Given the description of an element on the screen output the (x, y) to click on. 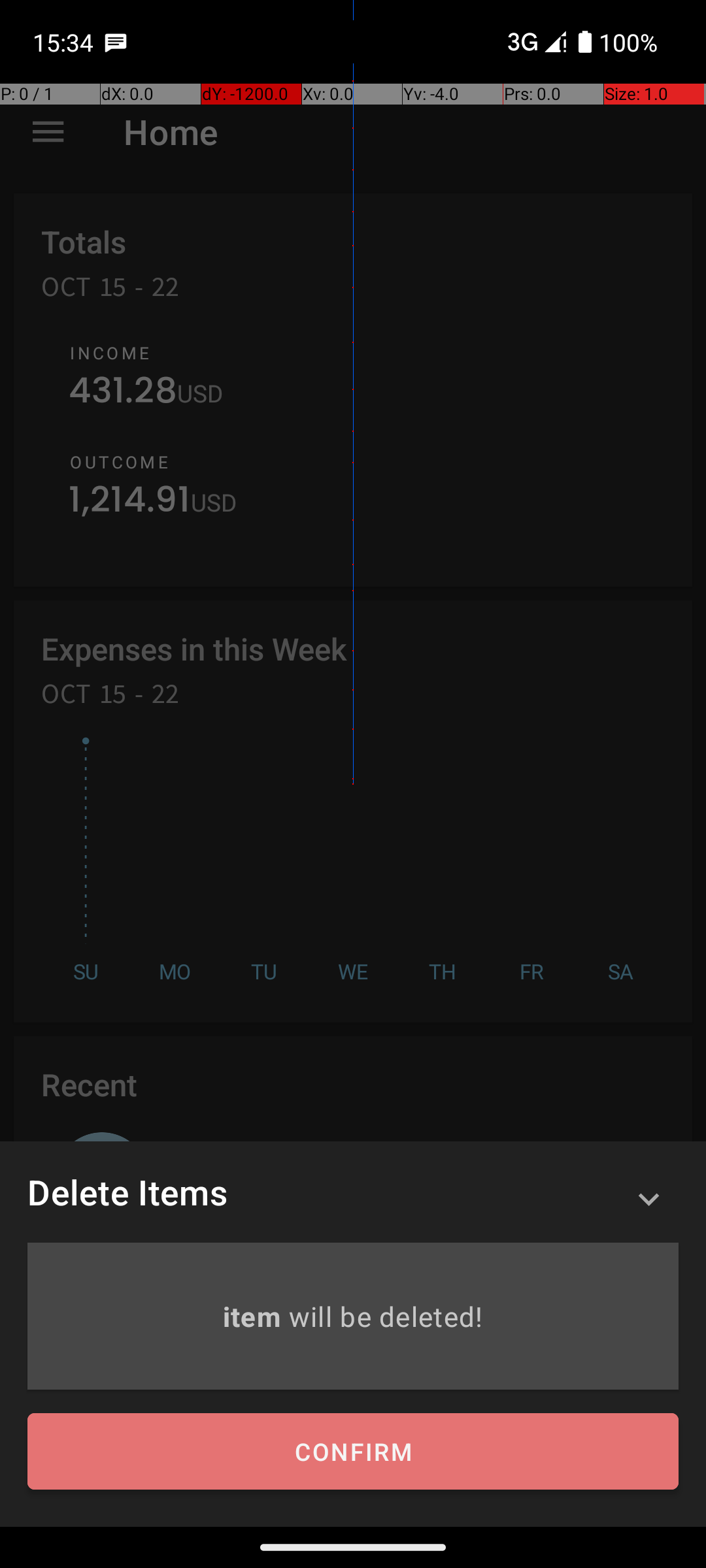
Delete Items Element type: android.widget.TextView (127, 1191)
item  Element type: android.widget.TextView (255, 1315)
will be deleted! Element type: android.widget.TextView (385, 1315)
CONFIRM Element type: android.widget.Button (352, 1451)
SMS Messenger notification: +12845986552 Element type: android.widget.ImageView (115, 41)
